Given the description of an element on the screen output the (x, y) to click on. 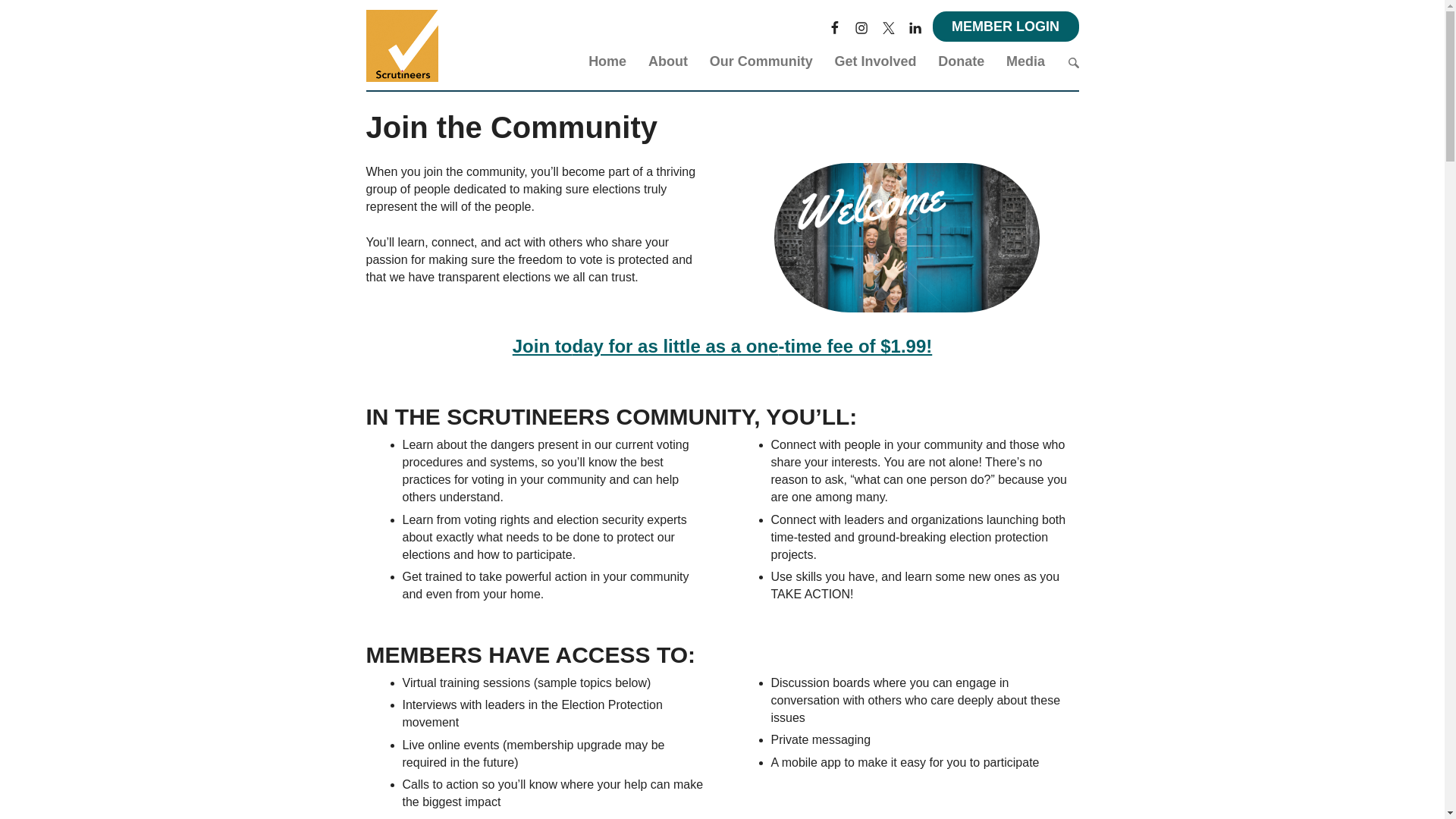
LinkedIn (915, 26)
Search (1072, 62)
Scrutineers (401, 45)
Facebook (834, 26)
Our Community (761, 63)
Donate (960, 63)
Media (1025, 63)
Instagram (861, 26)
Get Involved (874, 63)
MEMBER LOGIN (1005, 26)
